Given the description of an element on the screen output the (x, y) to click on. 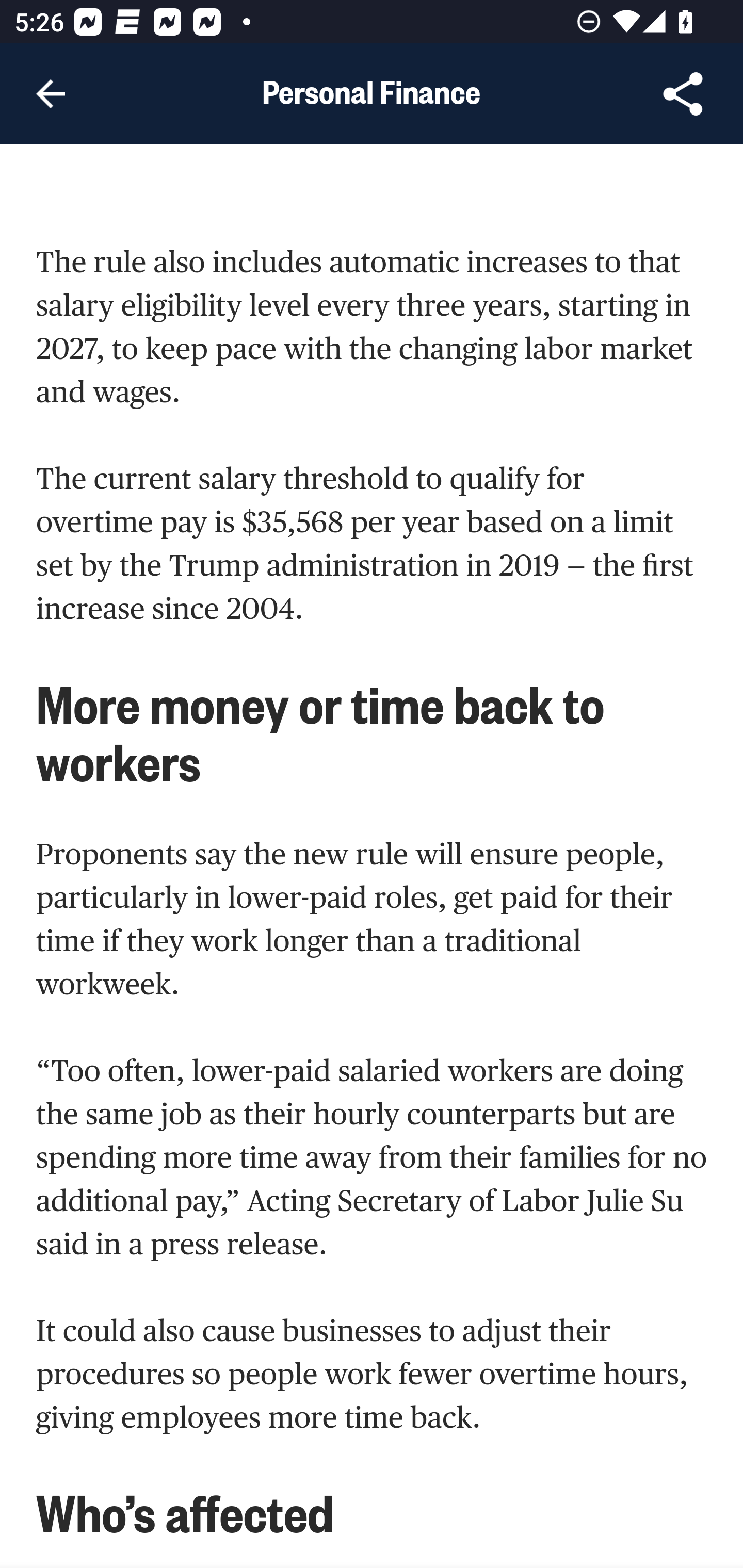
Navigate up (50, 93)
Share Article, button (683, 94)
